Given the description of an element on the screen output the (x, y) to click on. 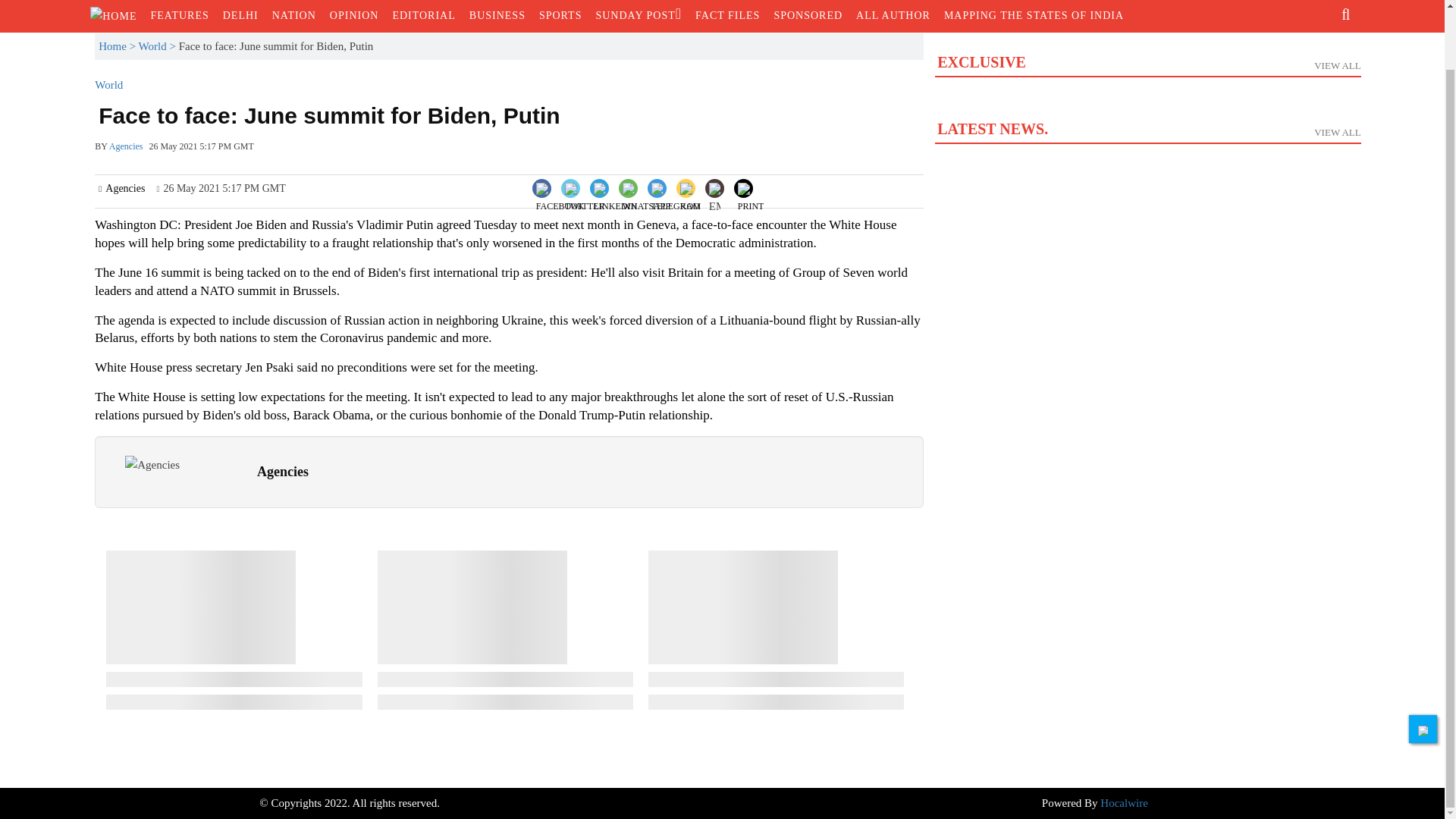
NATION (293, 15)
SUNDAY POST (638, 15)
linkedin (615, 199)
MAPPING THE STATES OF INDIA (1034, 15)
Twitter (584, 186)
whatsapp (646, 199)
telegram (675, 199)
SPONSORED (807, 15)
home (113, 15)
FACT FILES (727, 15)
Share by Email (713, 190)
FEATURES (178, 15)
Facebook (560, 186)
facebook (560, 199)
OPINION (354, 15)
